Given the description of an element on the screen output the (x, y) to click on. 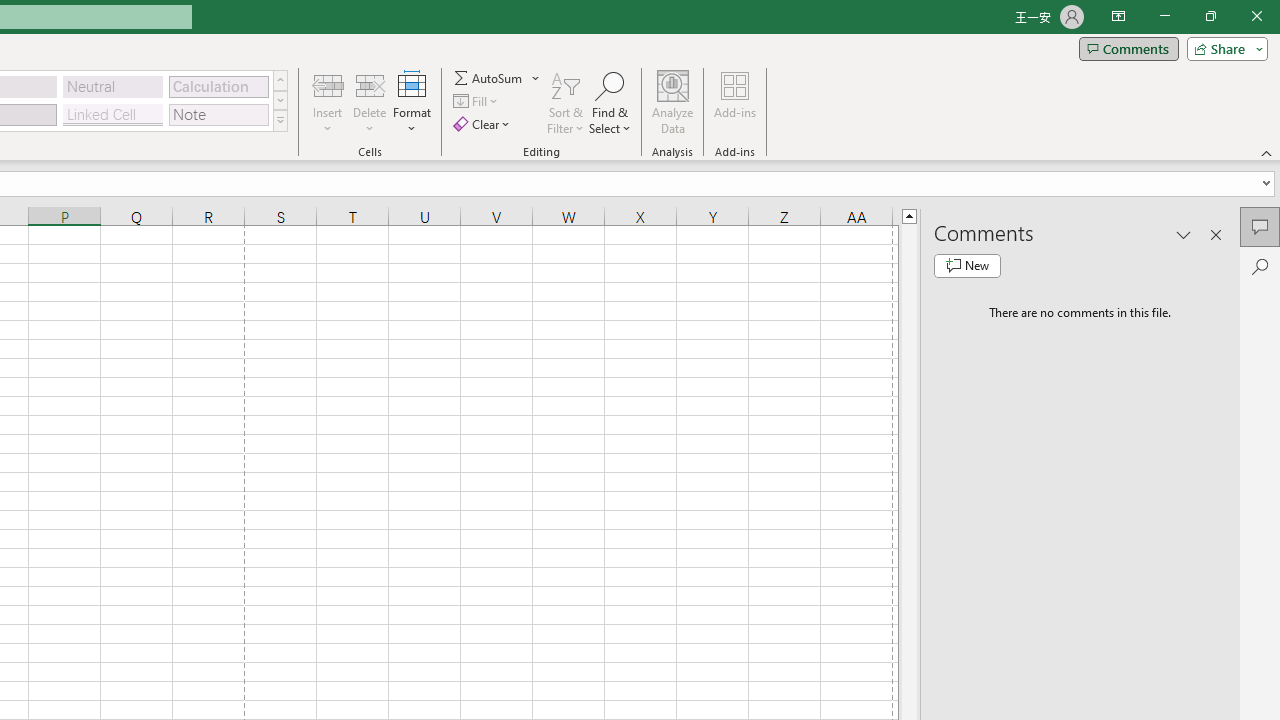
Delete (369, 102)
Share (1223, 48)
Comments (1128, 48)
Search (1260, 266)
Line up (909, 215)
Clear (483, 124)
Sort & Filter (566, 102)
Task Pane Options (1183, 234)
Sum (489, 78)
Analyze Data (673, 102)
Restore Down (1210, 16)
Comments (1260, 226)
Insert (328, 102)
AutoSum (497, 78)
Minimize (1164, 16)
